Given the description of an element on the screen output the (x, y) to click on. 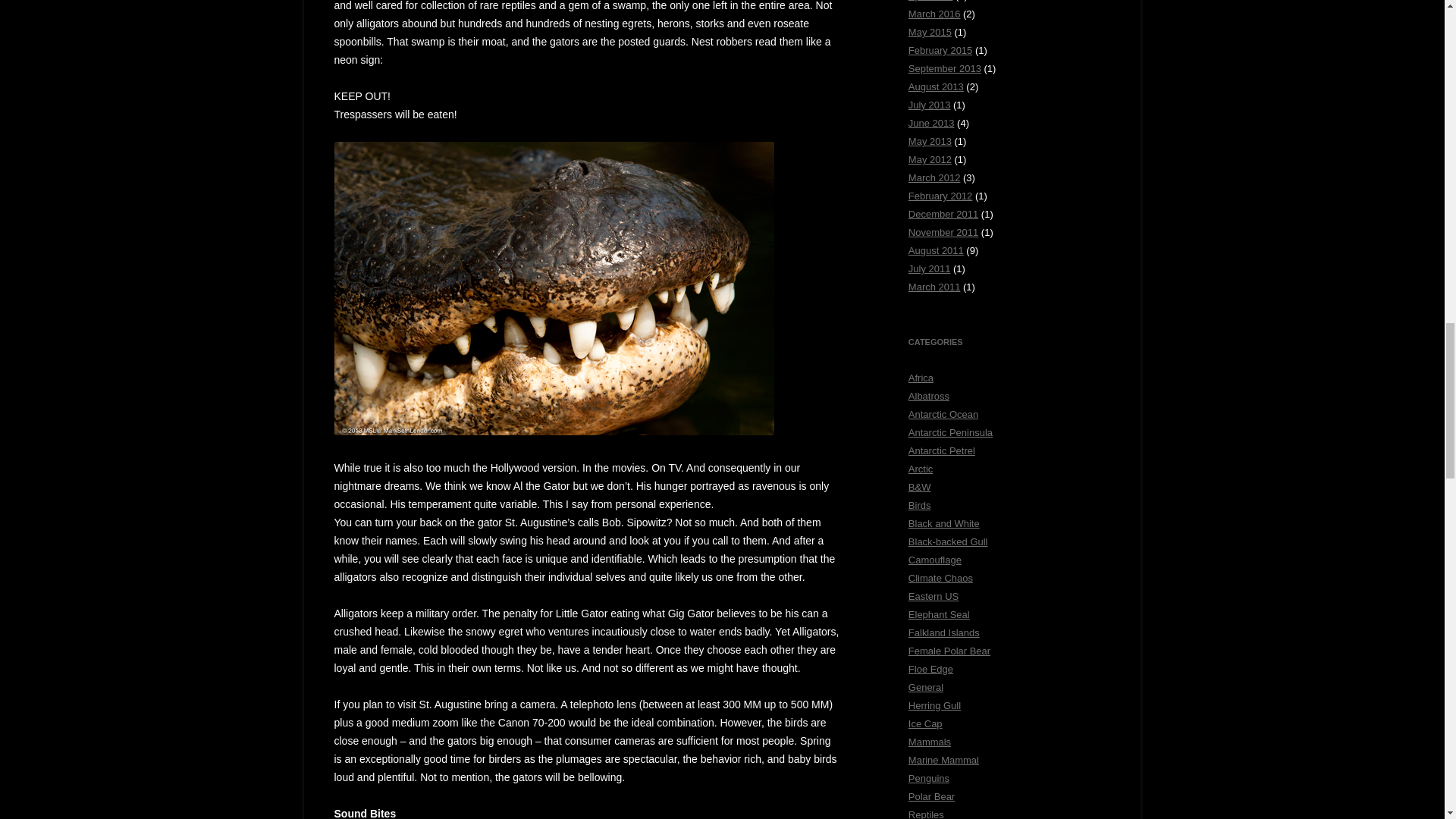
General articles about the natural world (925, 686)
Armed-to-the-Teeth-00420 (553, 287)
